Given the description of an element on the screen output the (x, y) to click on. 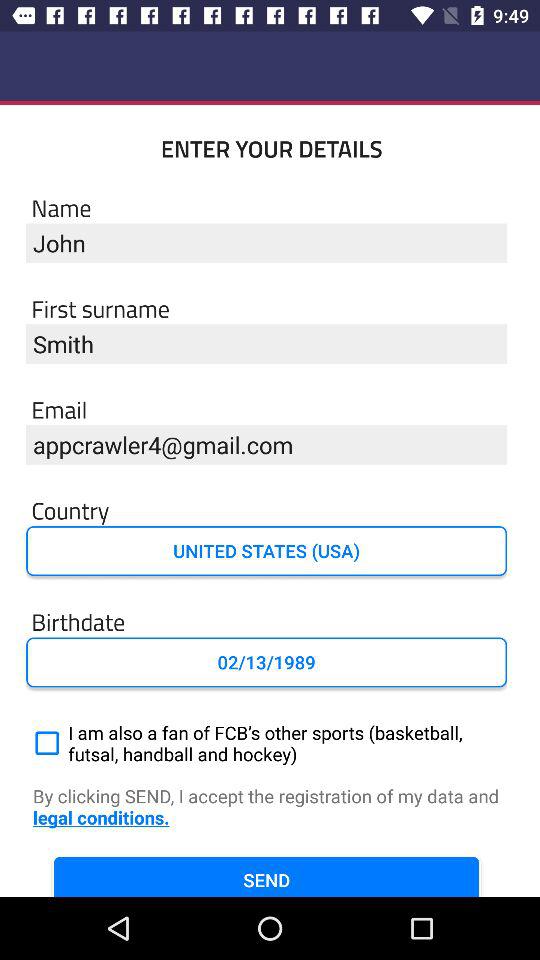
tap the smith icon (266, 343)
